Given the description of an element on the screen output the (x, y) to click on. 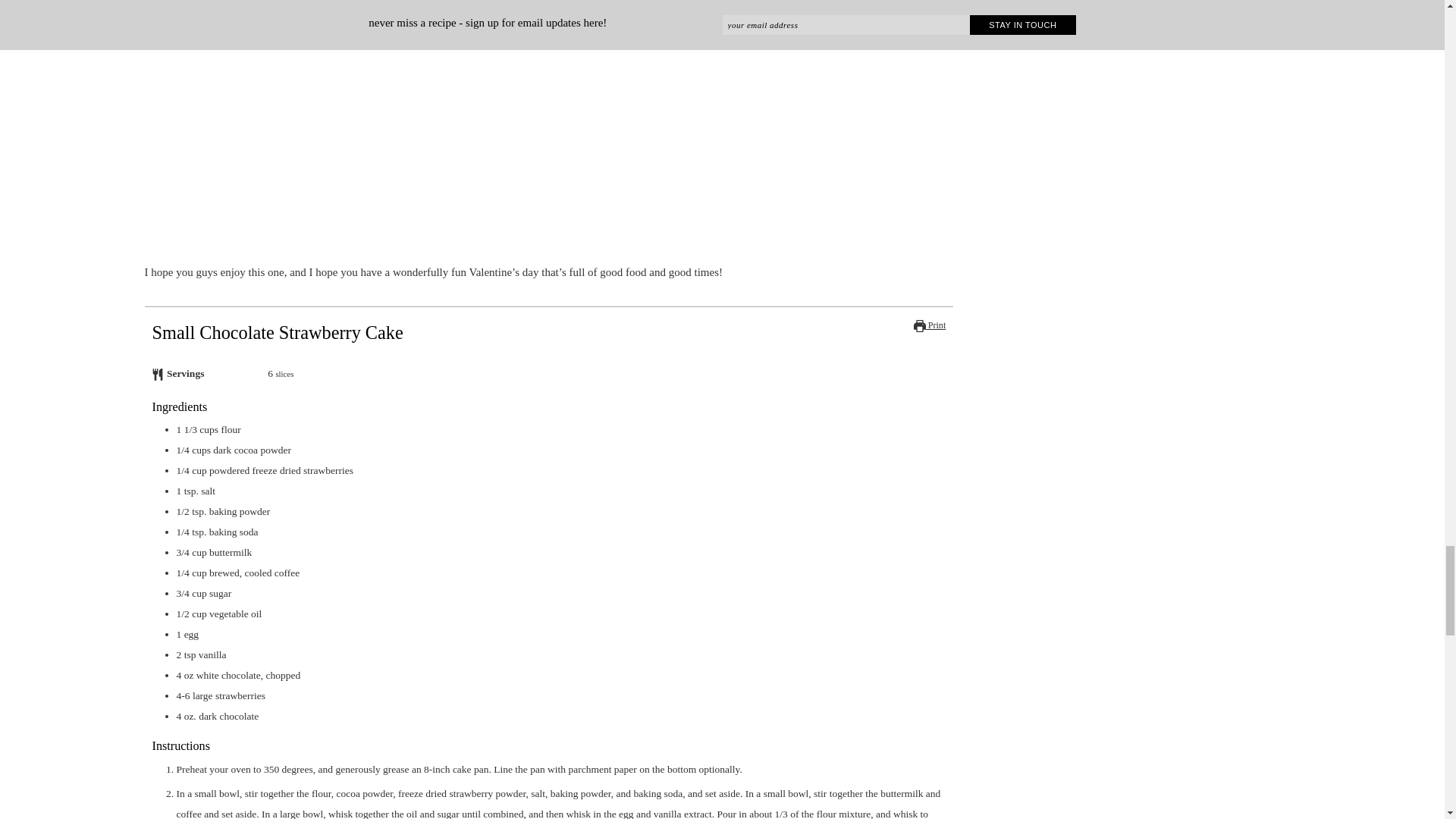
Print (930, 325)
